Given the description of an element on the screen output the (x, y) to click on. 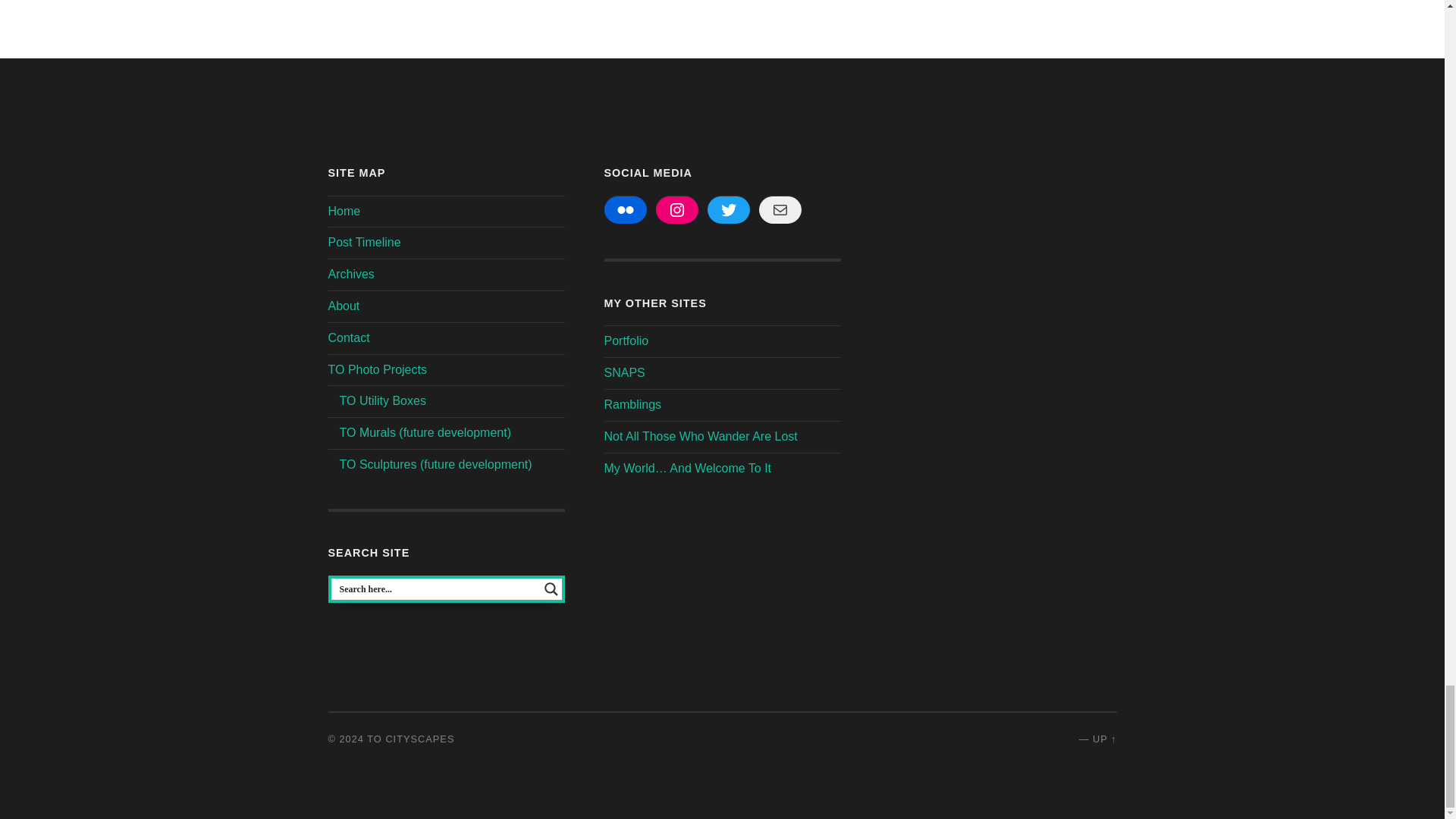
To the top (1104, 738)
